Given the description of an element on the screen output the (x, y) to click on. 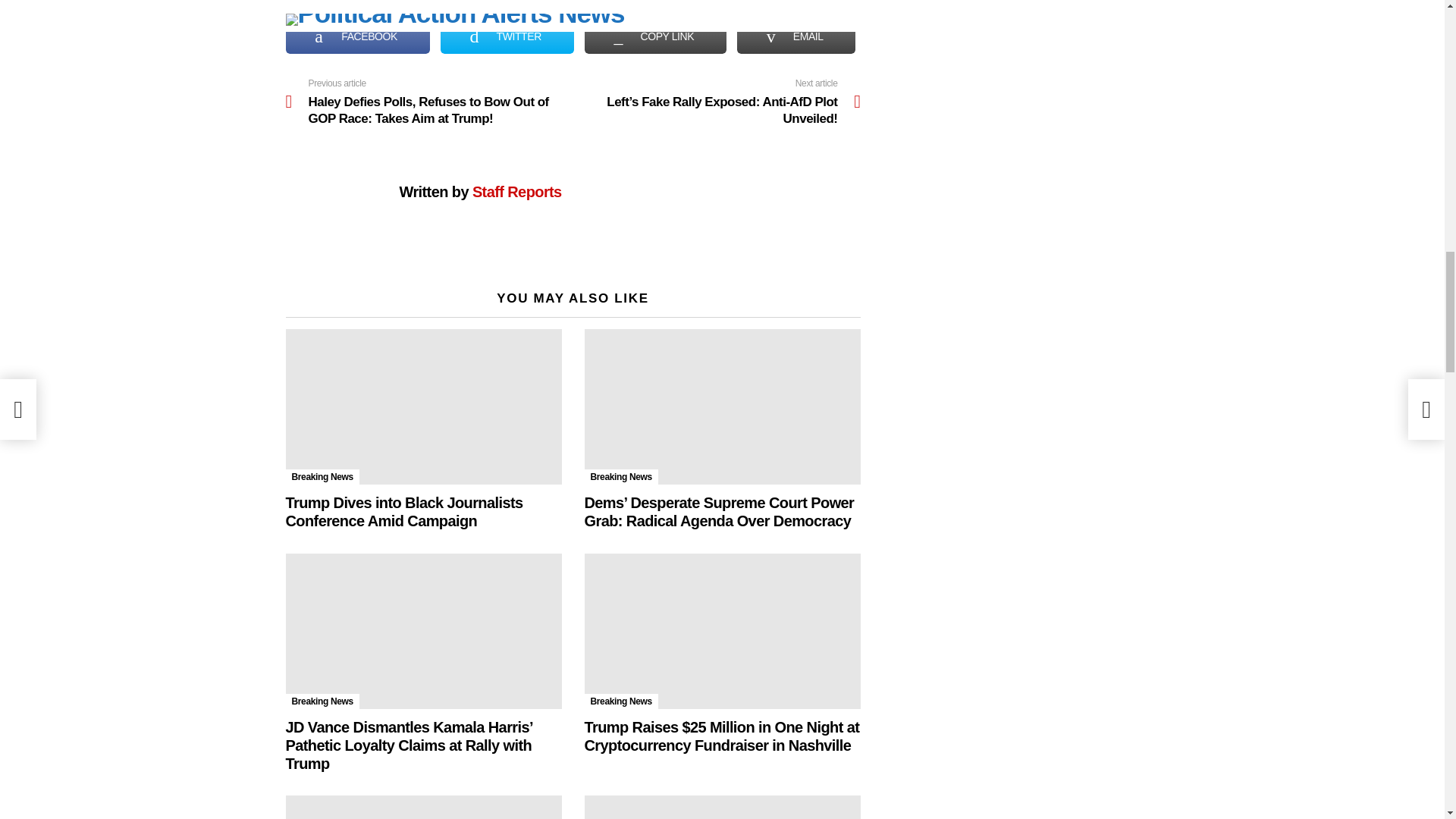
Share on Email (796, 36)
FACEBOOK (357, 36)
TWITTER (507, 36)
EMAIL (796, 36)
Share on Twitter (507, 36)
Trump Dives into Black Journalists Conference Amid Campaign (422, 406)
Share on Facebook (357, 36)
COPY LINK (655, 36)
Share on Copy Link (655, 36)
